Given the description of an element on the screen output the (x, y) to click on. 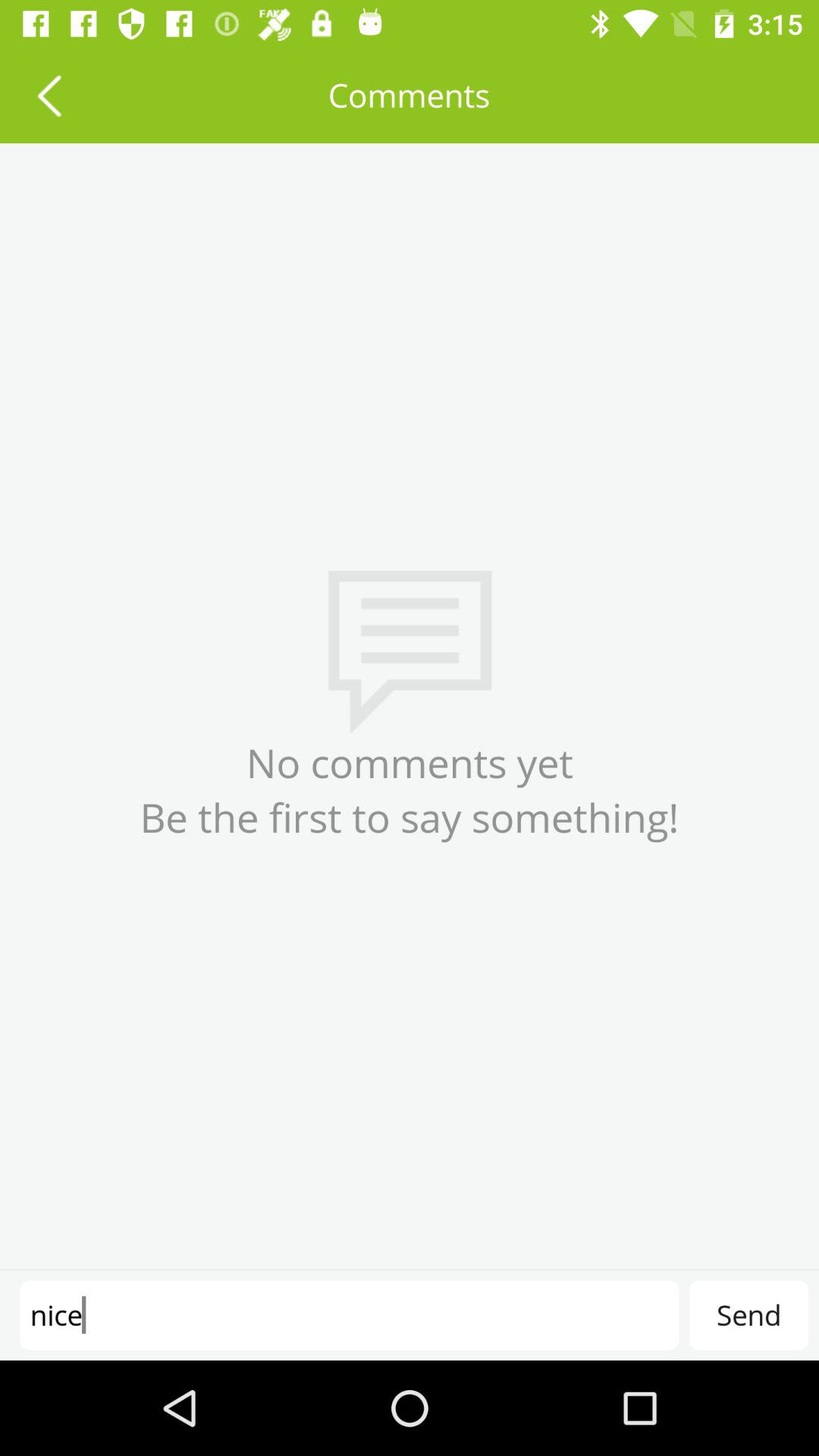
tap item to the right of nice item (748, 1315)
